Given the description of an element on the screen output the (x, y) to click on. 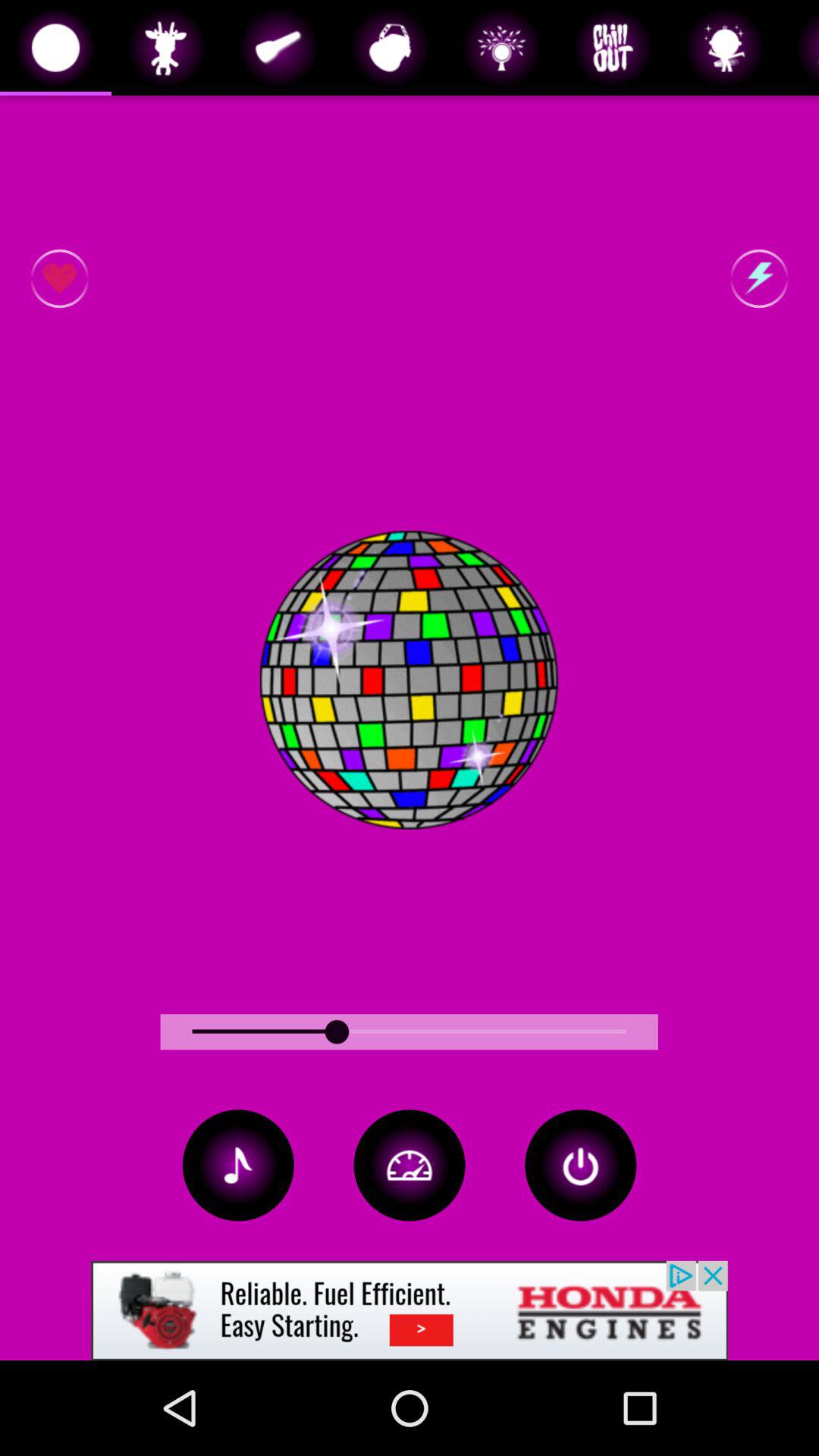
advertisement banner (409, 1310)
